Given the description of an element on the screen output the (x, y) to click on. 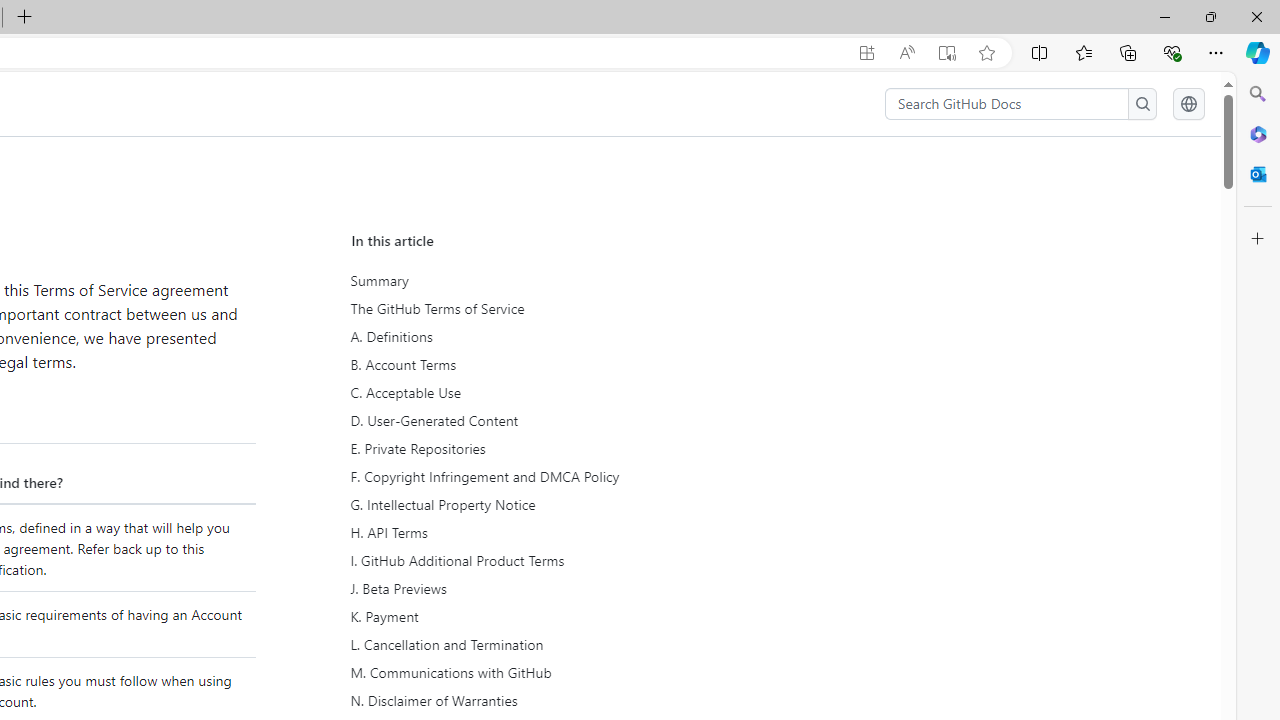
I. GitHub Additional Product Terms (538, 561)
M. Communications with GitHub (538, 672)
Summary (538, 281)
B. Account Terms (538, 364)
H. API Terms (535, 533)
L. Cancellation and Termination (538, 644)
Search GitHub Docs (1006, 103)
A. Definitions (538, 337)
N. Disclaimer of Warranties (535, 700)
App available. Install GitHub Docs (867, 53)
M. Communications with GitHub (535, 672)
B. Account Terms (535, 364)
K. Payment (538, 616)
